Given the description of an element on the screen output the (x, y) to click on. 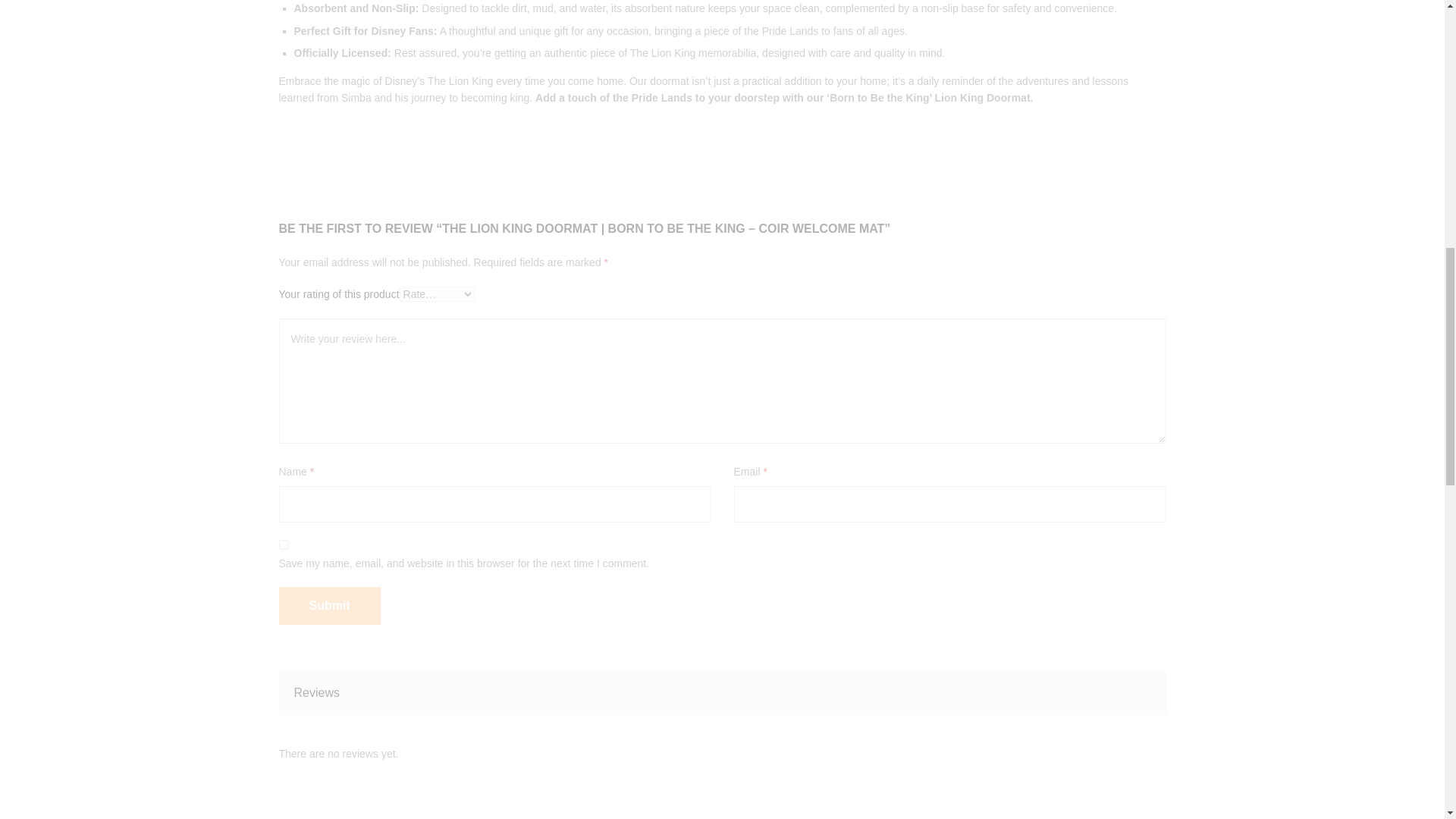
yes (283, 544)
Submit (329, 605)
Submit (329, 605)
